Given the description of an element on the screen output the (x, y) to click on. 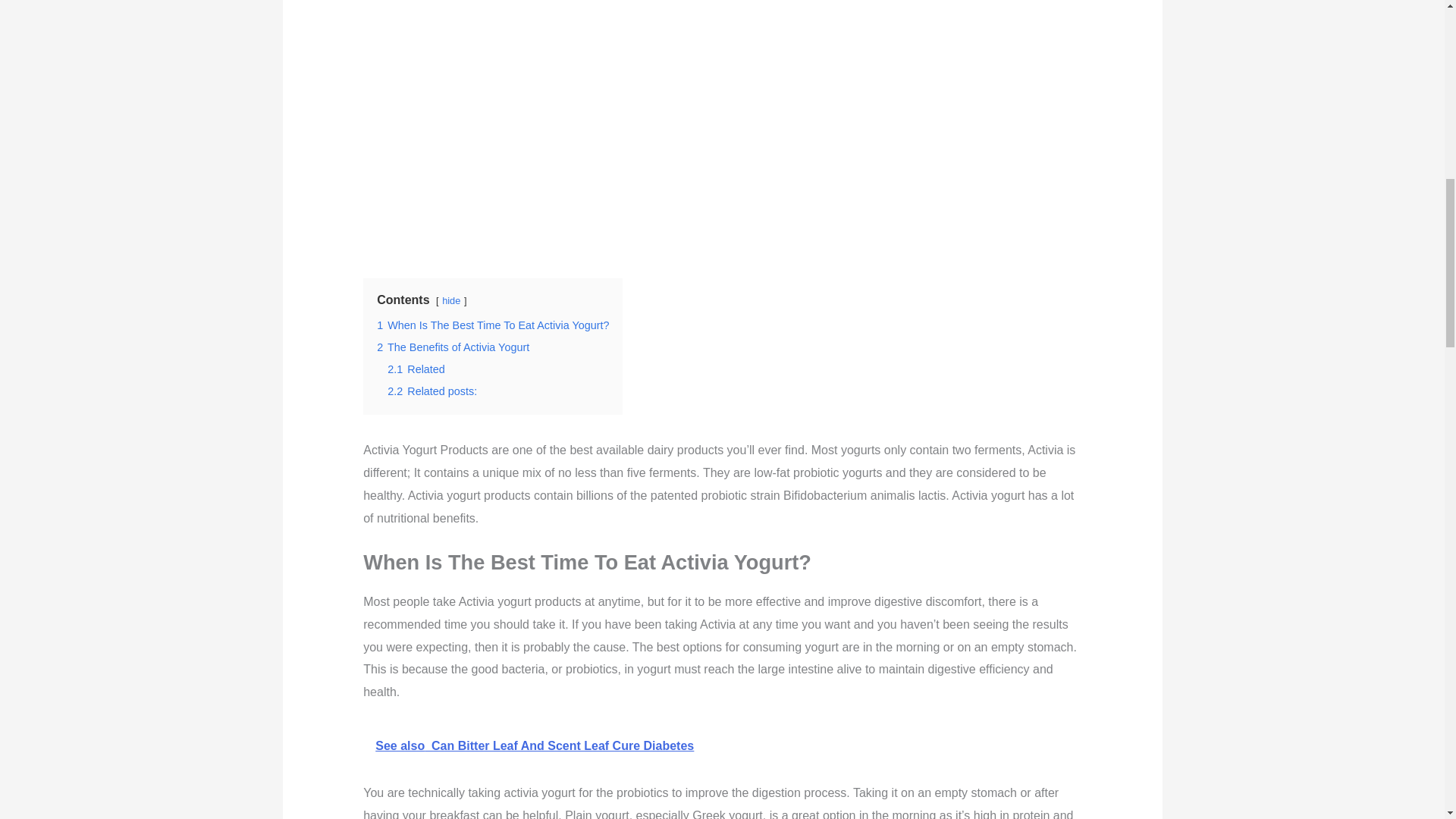
2.1 Related (416, 369)
hide (451, 300)
1 When Is The Best Time To Eat Activia Yogurt? (492, 325)
See also  Can Bitter Leaf And Scent Leaf Cure Diabetes (721, 745)
2.2 Related posts: (432, 390)
2 The Benefits of Activia Yogurt (453, 346)
